Given the description of an element on the screen output the (x, y) to click on. 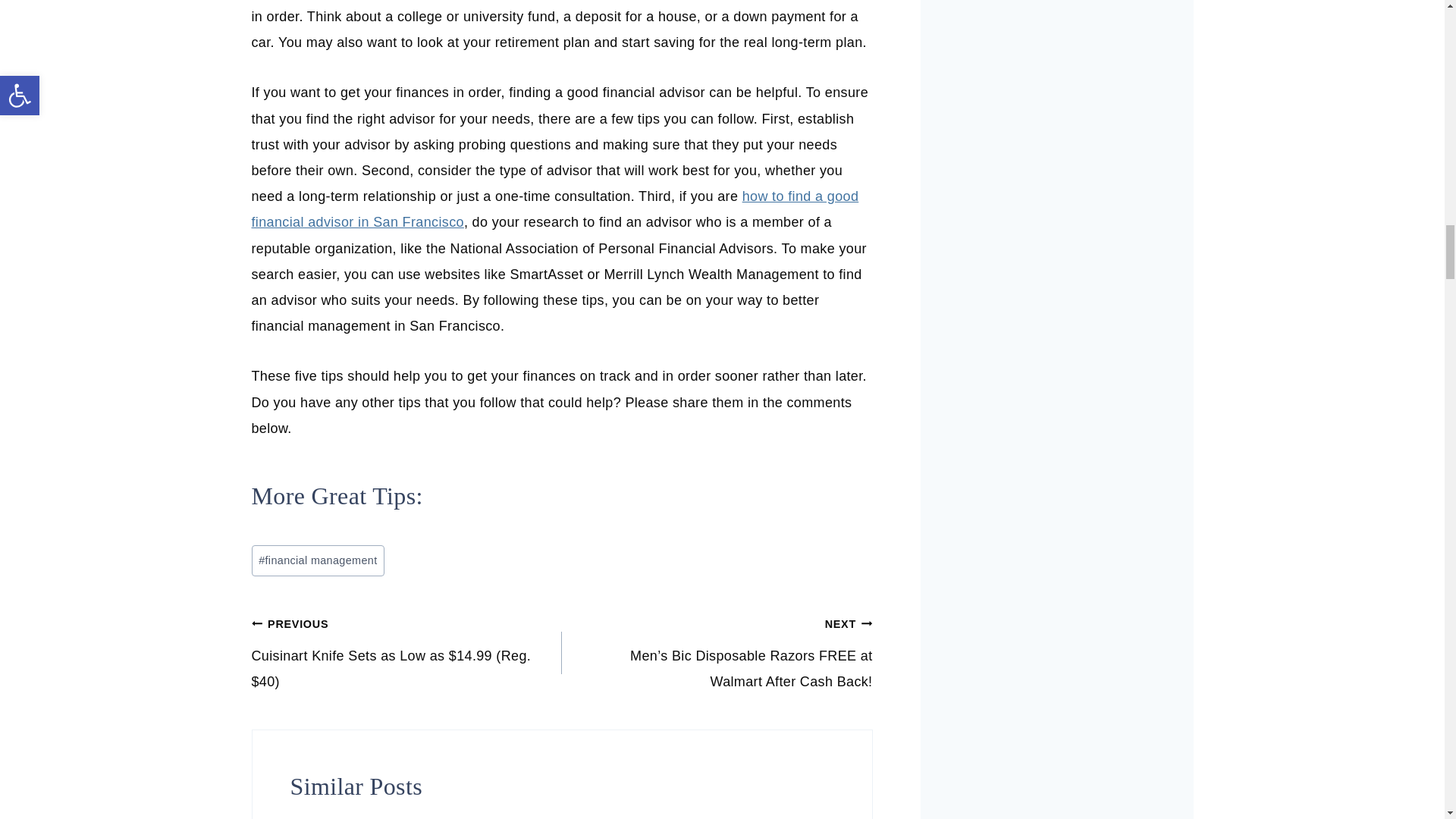
financial management (318, 560)
